Given the description of an element on the screen output the (x, y) to click on. 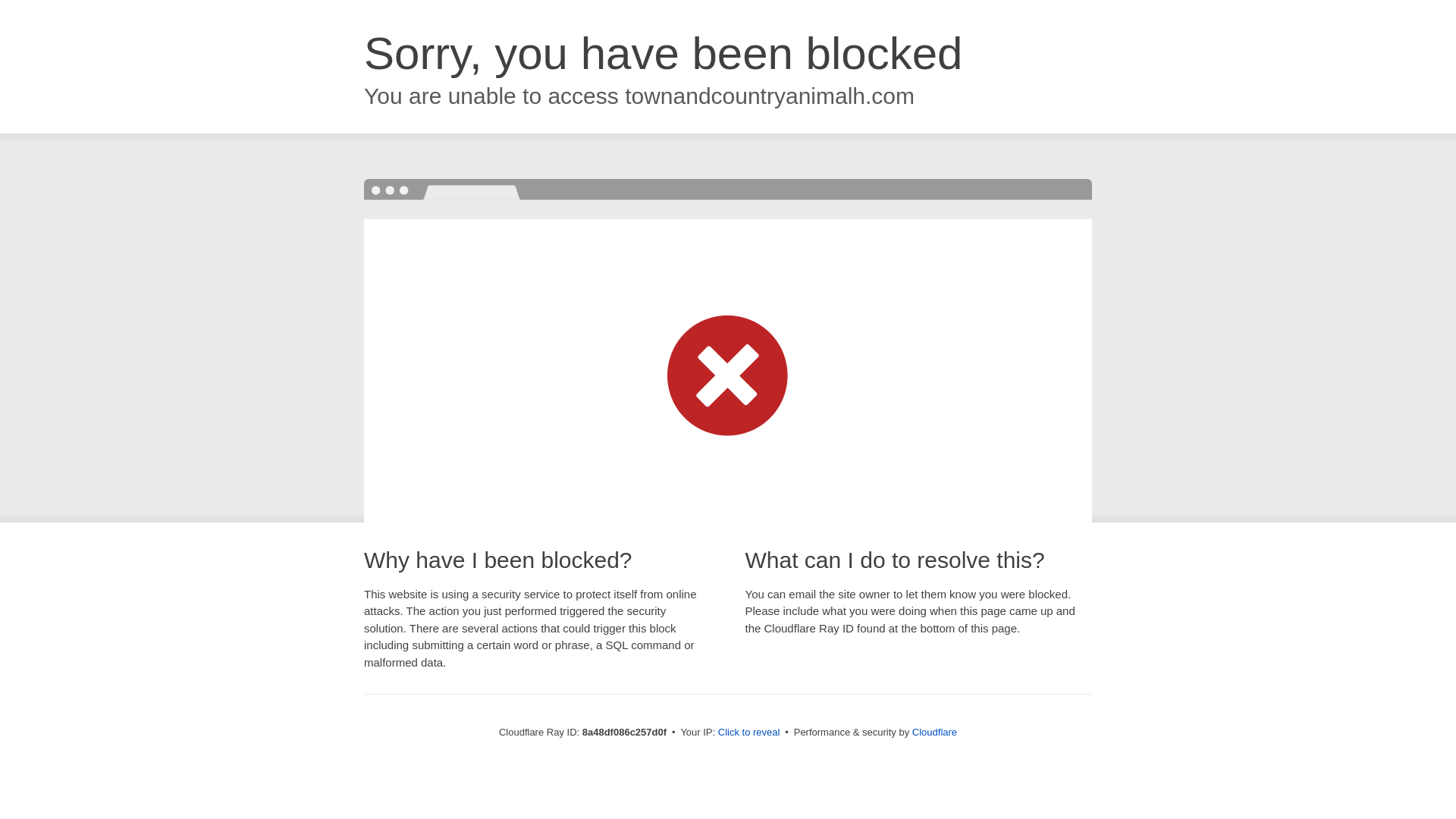
Click to reveal (748, 732)
Cloudflare (934, 731)
